Given the description of an element on the screen output the (x, y) to click on. 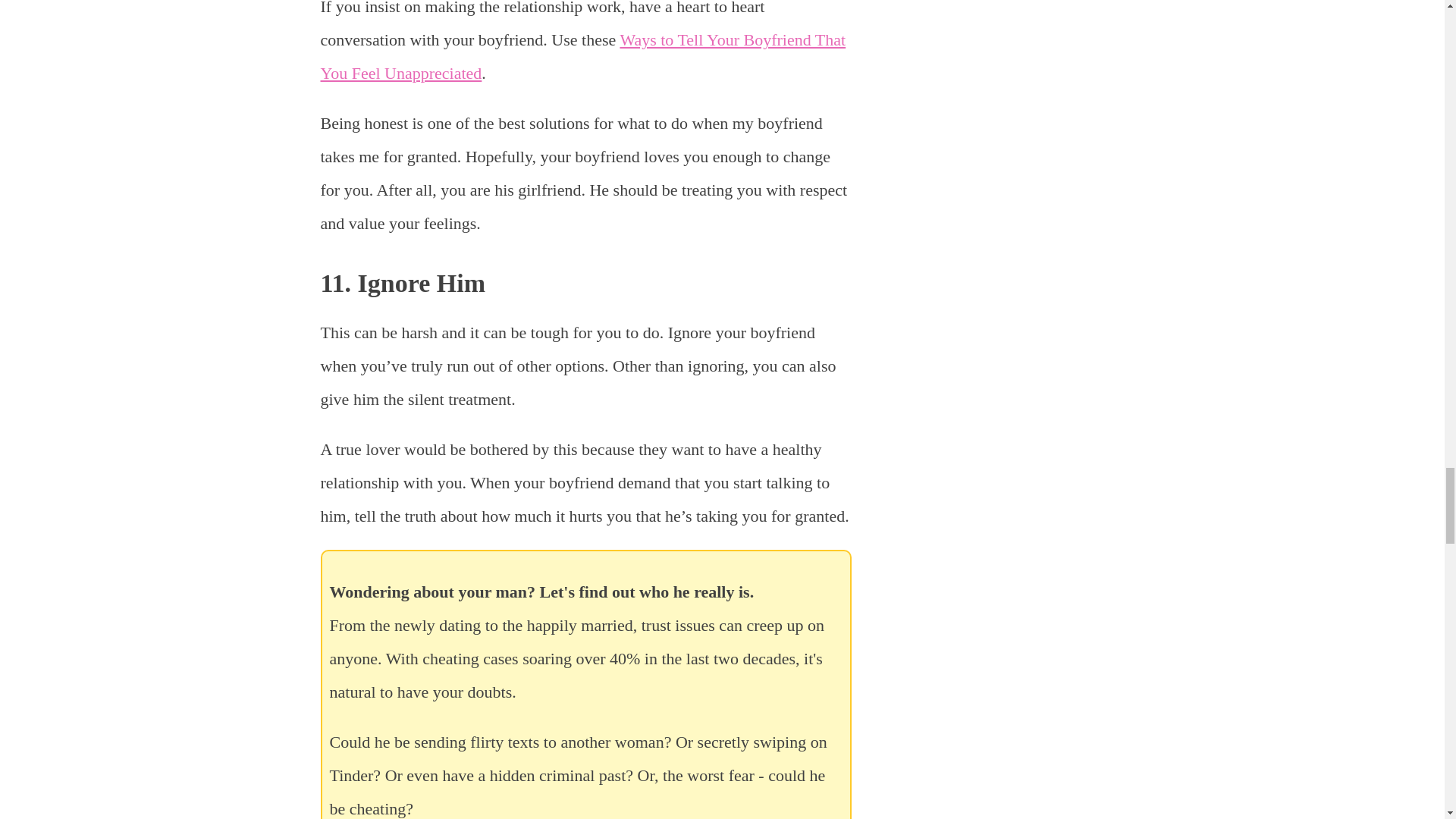
Ways to Tell Your Boyfriend That You Feel Unappreciated (582, 56)
